Given the description of an element on the screen output the (x, y) to click on. 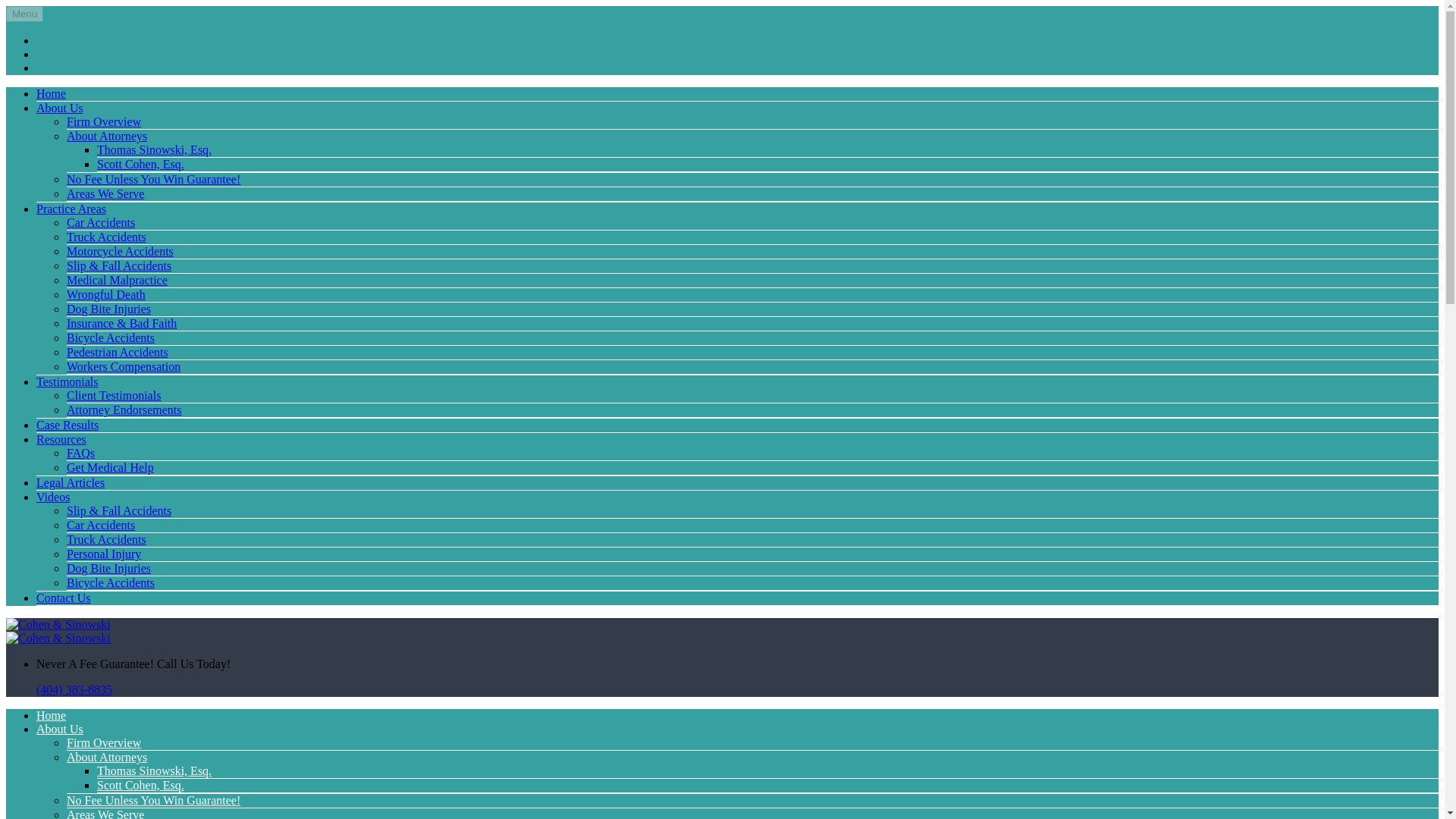
Menu (24, 13)
Bicycle Accidents (110, 337)
Practice Areas (71, 208)
About Attorneys (106, 135)
Motorcycle Accidents (119, 250)
Truck Accidents (106, 539)
About Us (59, 107)
Get Medical Help (110, 467)
Videos (52, 496)
Testimonials (67, 381)
Case Results (67, 424)
Areas We Serve (105, 193)
Attorney Endorsements (124, 409)
Pedestrian Accidents (117, 351)
Bicycle Accidents (110, 582)
